Given the description of an element on the screen output the (x, y) to click on. 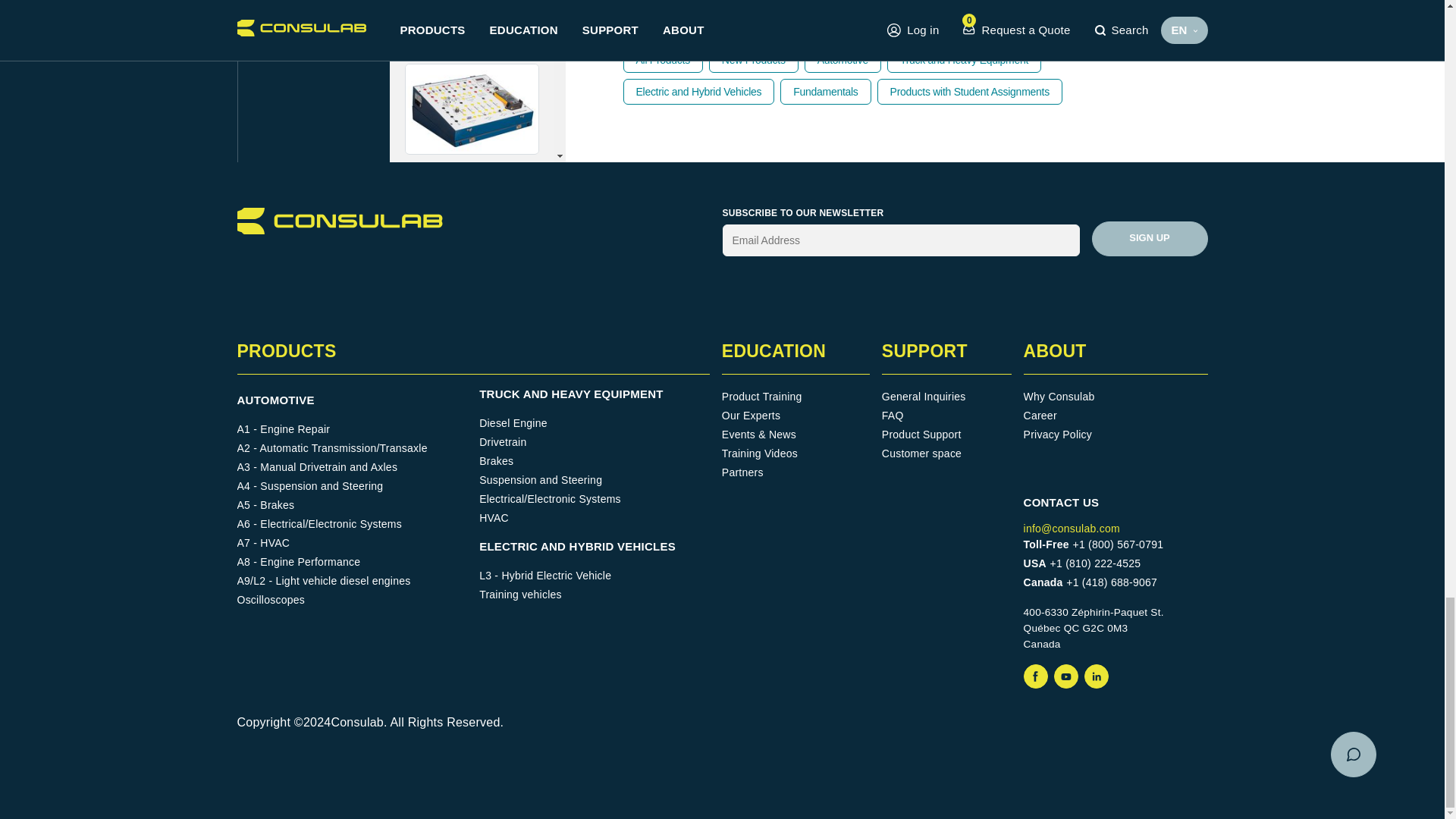
SINGLE SIDED AUTOMOTIVE LIGHTING SYSTEM TRAINER (471, 744)
Single sided automotive lighting system trainer (471, 744)
ELECTROMAGNETISM TRAINER (471, 533)
Electromagnetism trainer (471, 533)
Sign up (1150, 238)
